Given the description of an element on the screen output the (x, y) to click on. 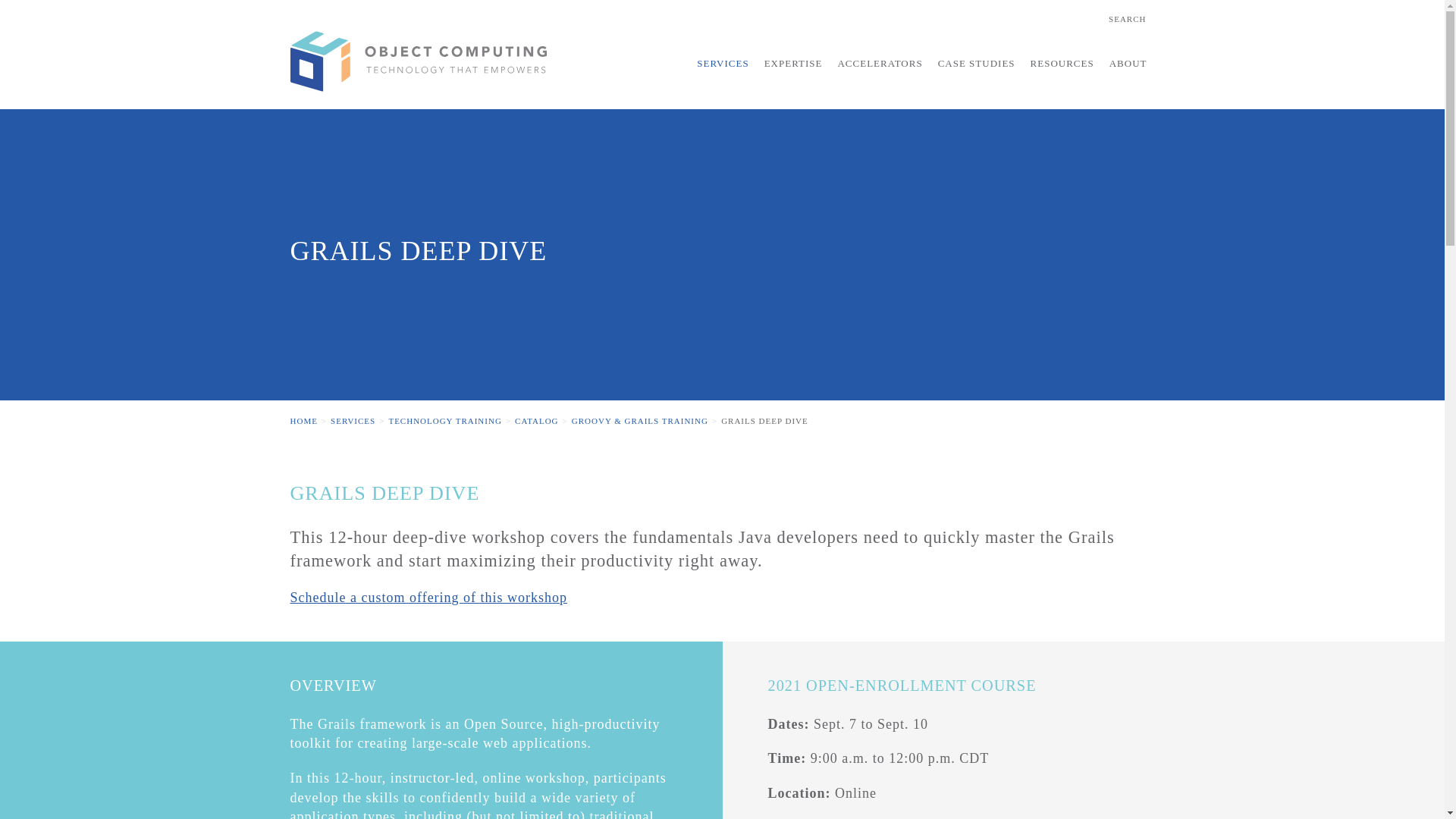
HOME (418, 61)
TECHNOLOGY TRAINING (444, 420)
EXPERTISE (793, 76)
Schedule a custom offering of this workshop (428, 597)
CATALOG (536, 420)
CASE STUDIES (976, 76)
HOME (303, 420)
SERVICES (352, 420)
SEARCH (1126, 19)
RESOURCES (1062, 76)
